Given the description of an element on the screen output the (x, y) to click on. 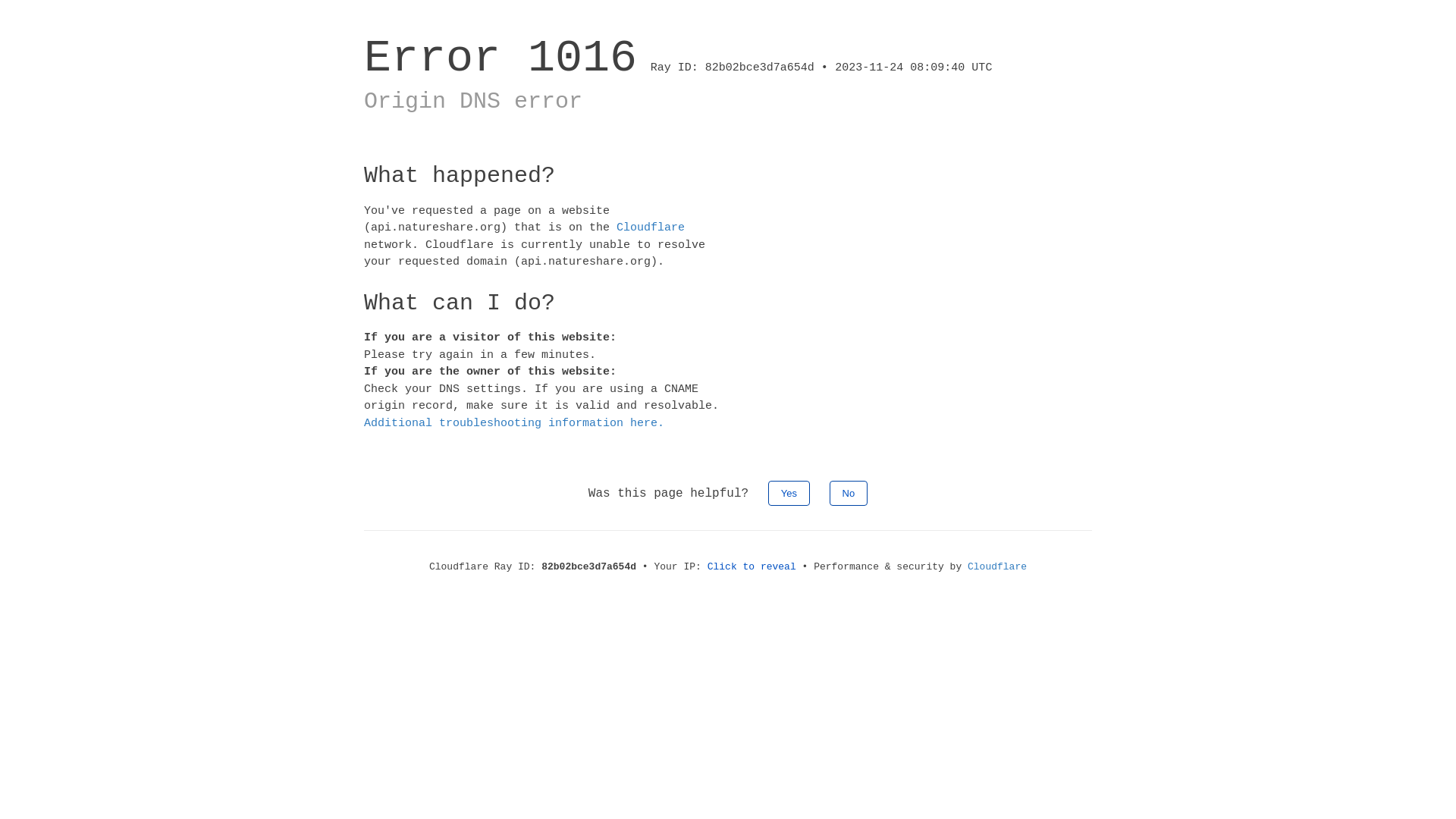
No Element type: text (848, 492)
Cloudflare Element type: text (650, 227)
Yes Element type: text (788, 492)
Click to reveal Element type: text (751, 566)
Additional troubleshooting information here. Element type: text (514, 423)
Cloudflare Element type: text (996, 566)
